Given the description of an element on the screen output the (x, y) to click on. 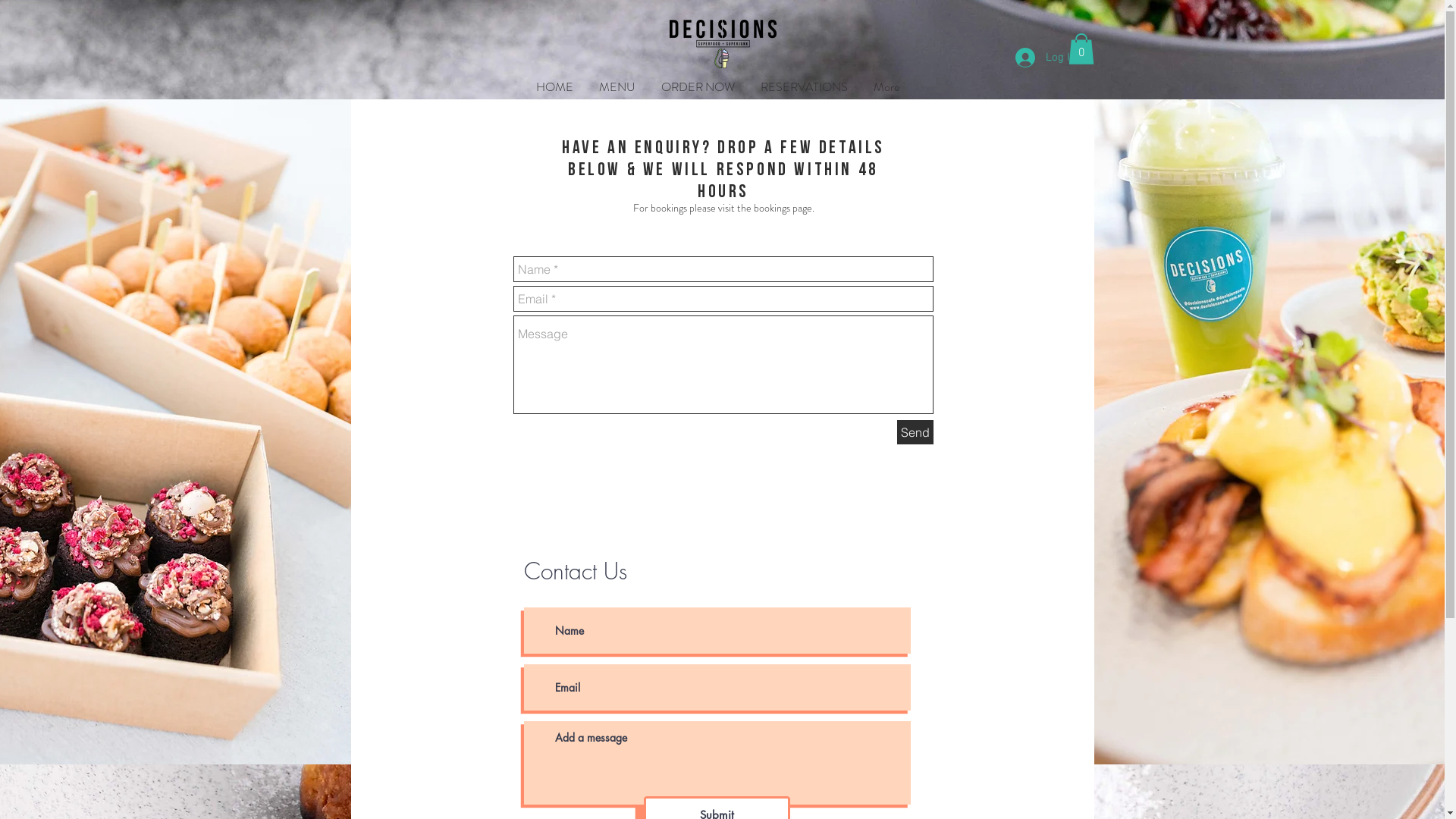
Log In Element type: text (1044, 57)
0 Element type: text (1080, 48)
RESERVATIONS Element type: text (803, 86)
ORDER NOW Element type: text (696, 86)
Send Element type: text (914, 432)
MENU Element type: text (616, 86)
HOME Element type: text (554, 86)
